Given the description of an element on the screen output the (x, y) to click on. 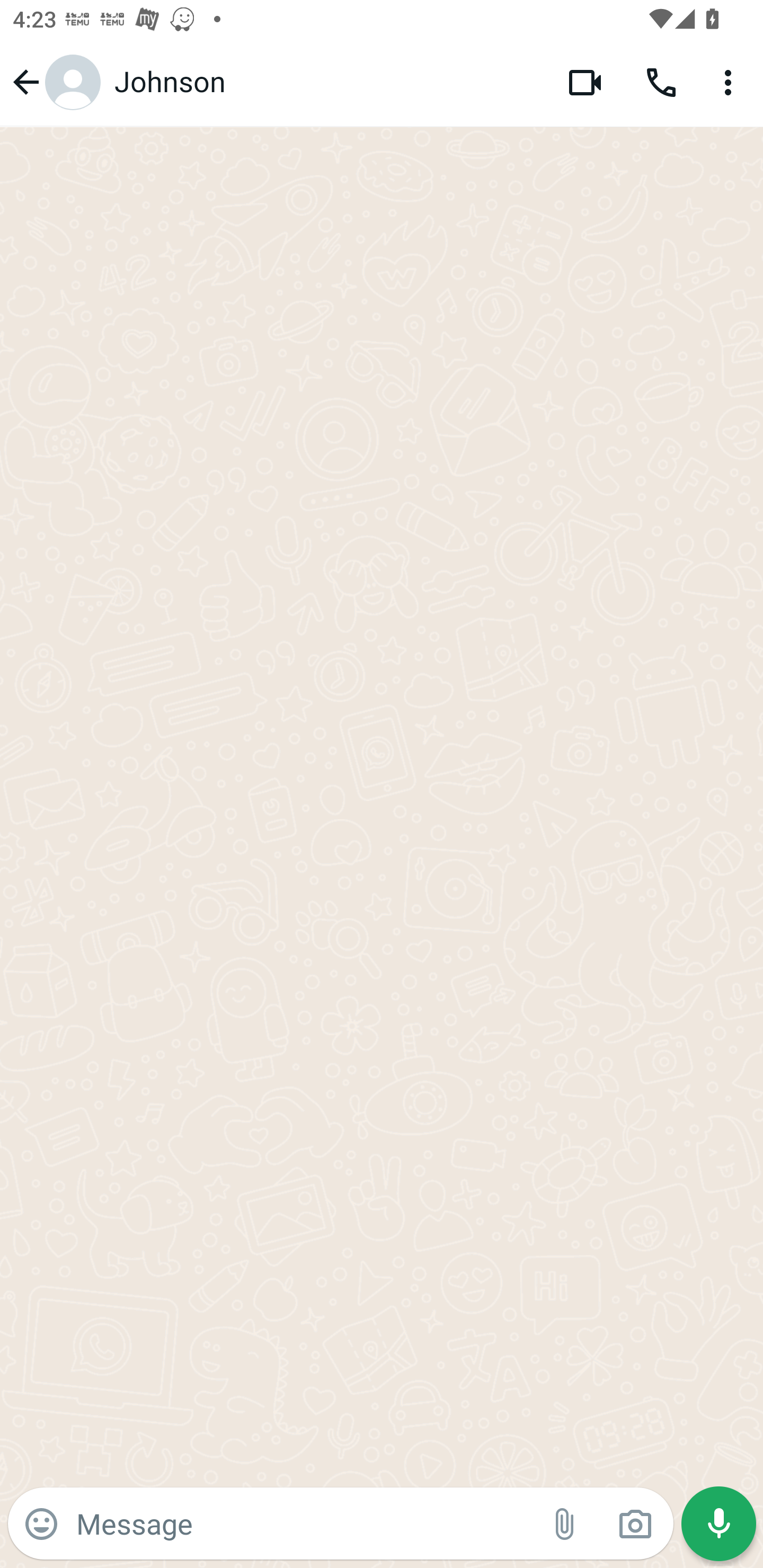
Johnson (327, 82)
Navigate up (54, 82)
Video call (585, 81)
Voice call (661, 81)
More options (731, 81)
Emoji (41, 1523)
Attach (565, 1523)
Camera (634, 1523)
Message (303, 1523)
